Given the description of an element on the screen output the (x, y) to click on. 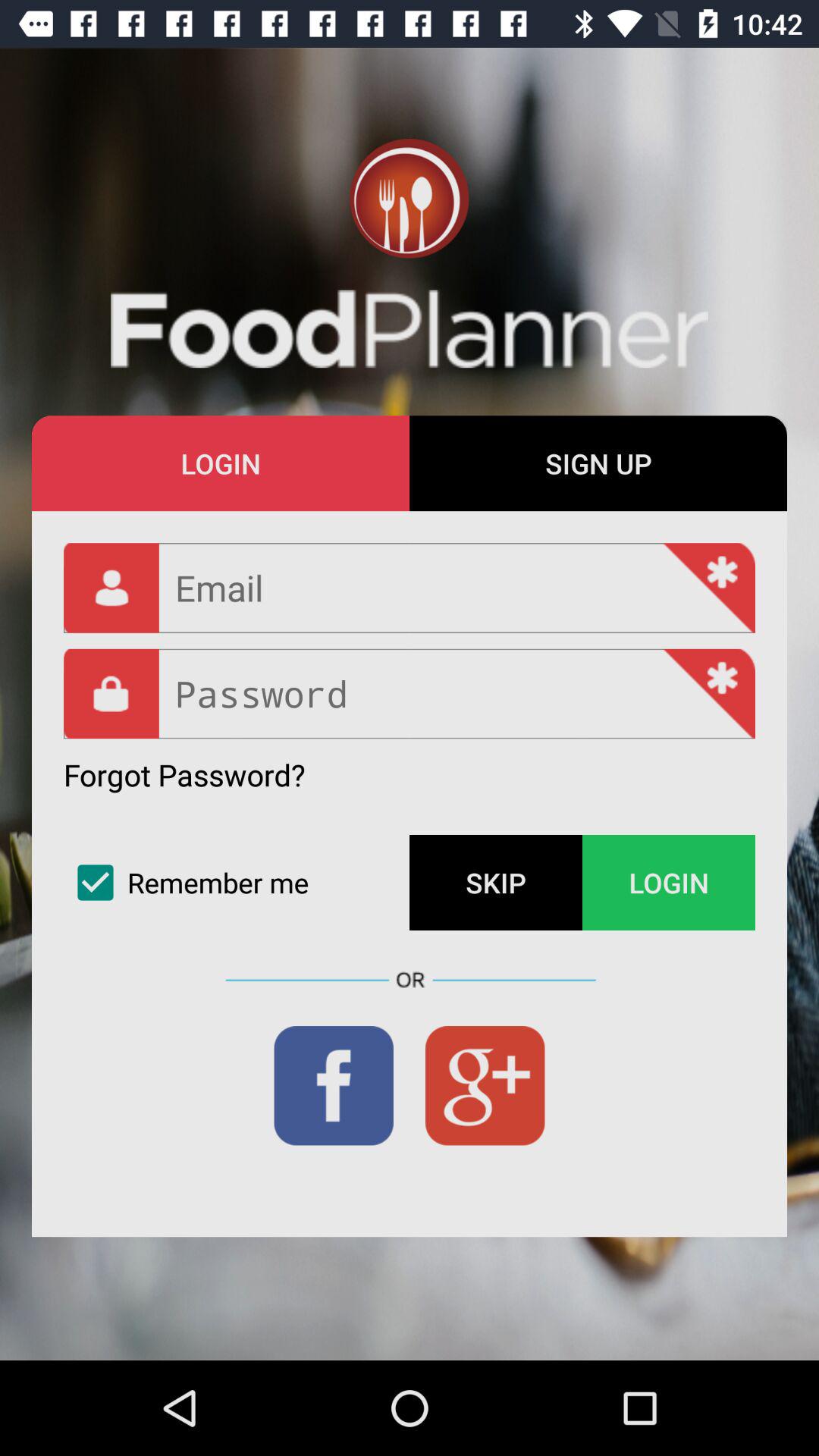
name button (409, 588)
